Given the description of an element on the screen output the (x, y) to click on. 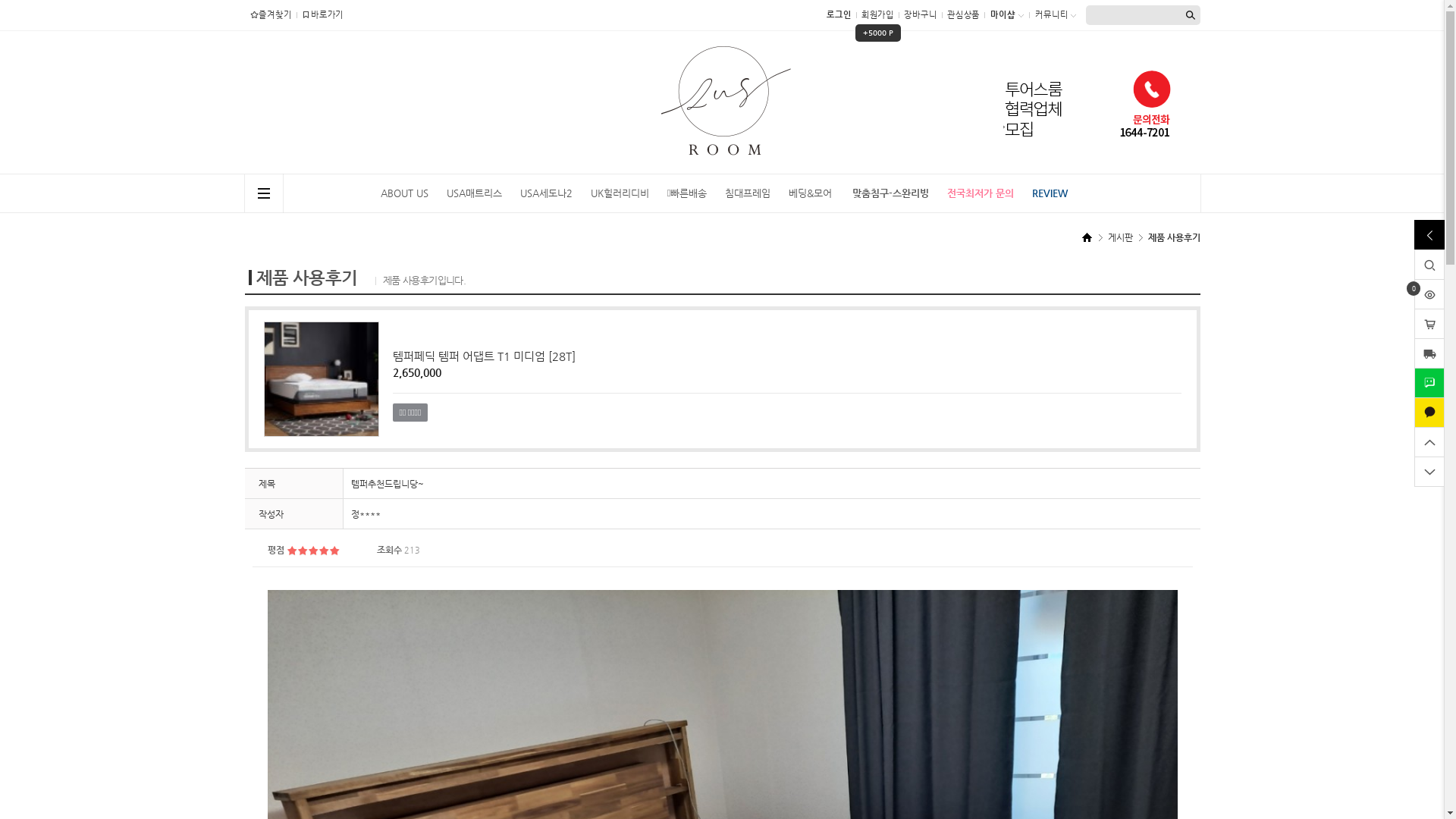
REVIEW Element type: text (1049, 193)
ABOUT US Element type: text (404, 193)
